Given the description of an element on the screen output the (x, y) to click on. 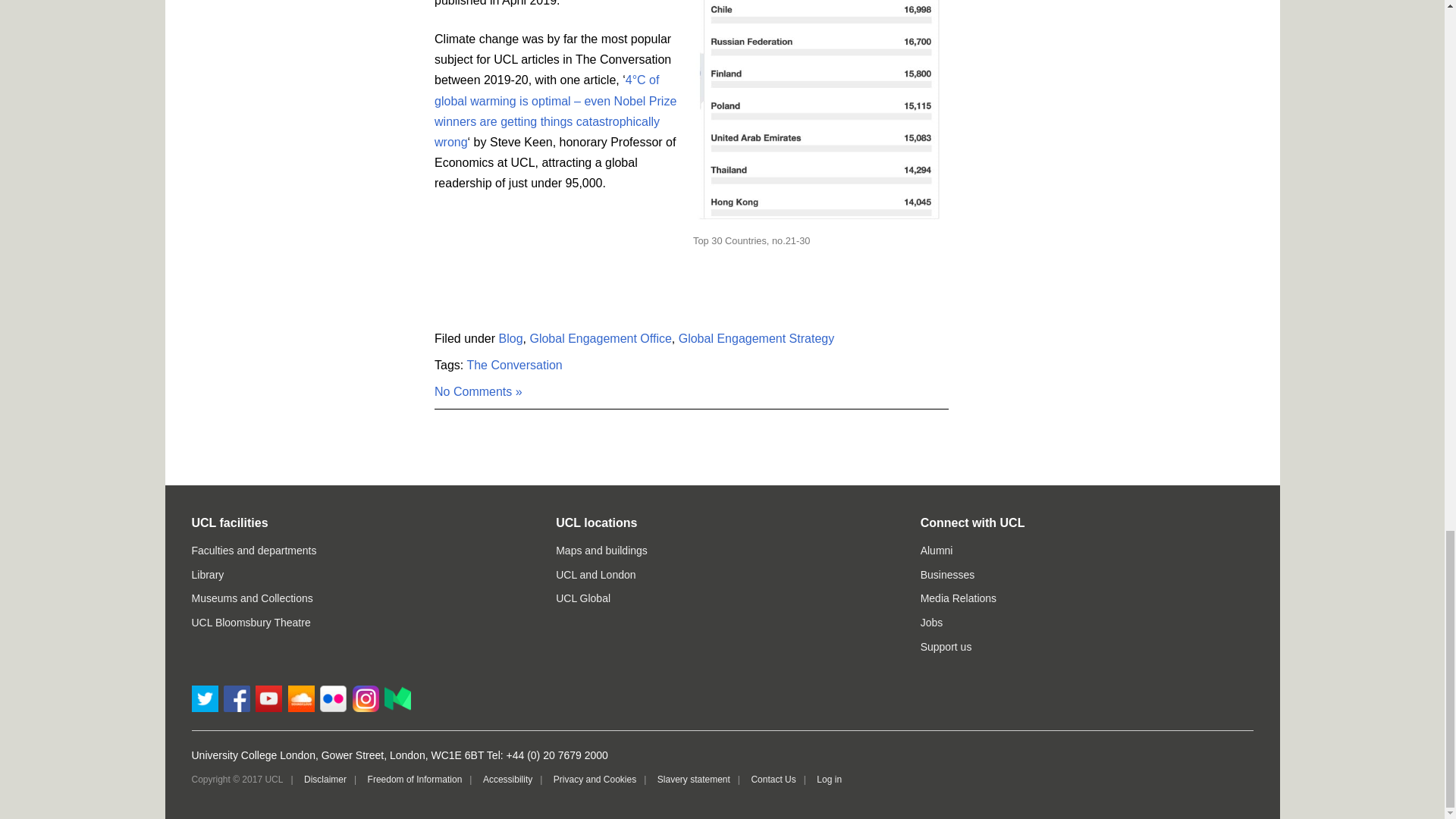
Faculties and departments (252, 550)
Museums and Collections (251, 598)
Blog (510, 338)
The Conversation (513, 364)
Global Engagement Strategy (756, 338)
Library (207, 574)
Global Engagement Office (600, 338)
